Given the description of an element on the screen output the (x, y) to click on. 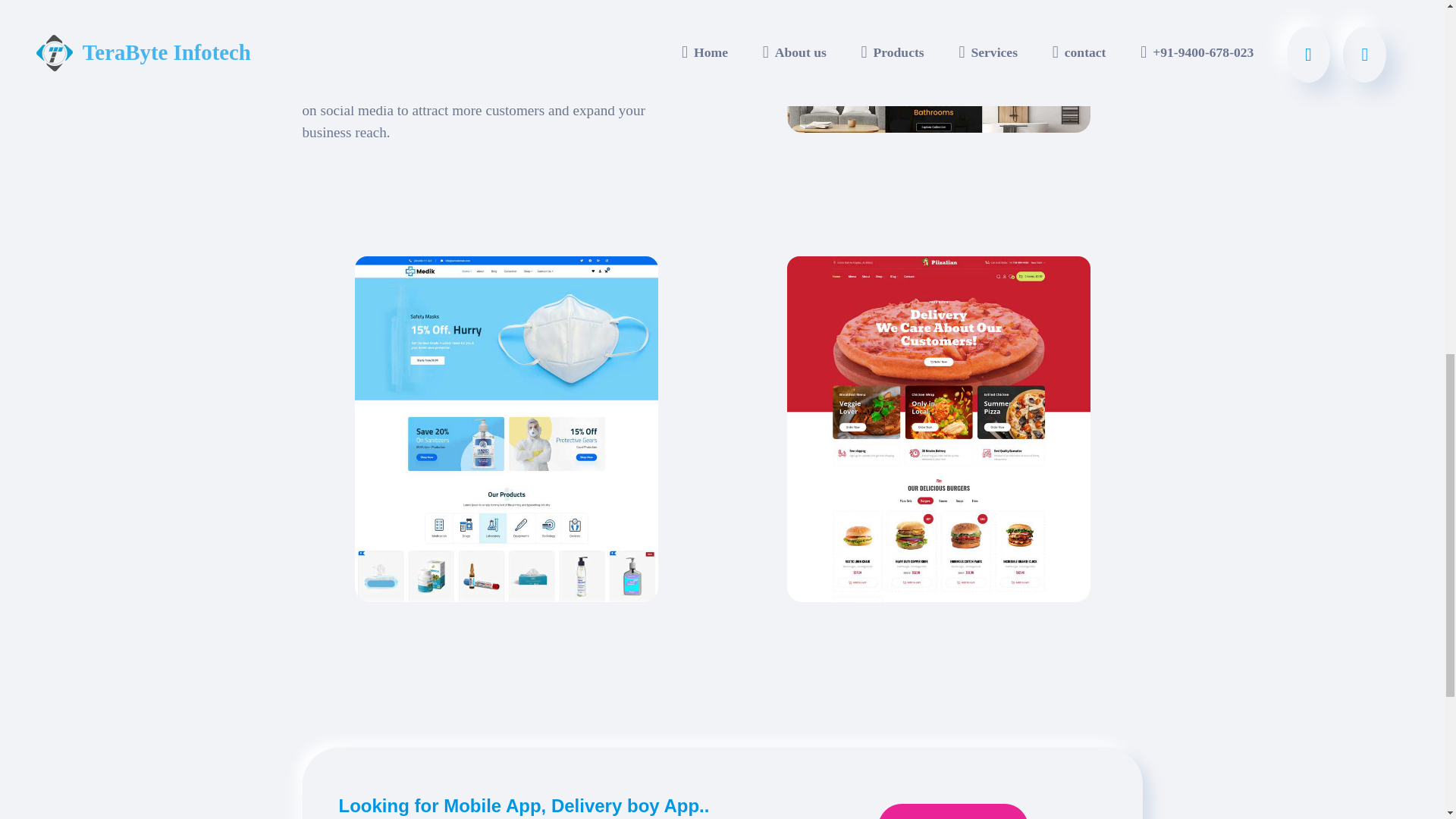
Know more (952, 811)
